Given the description of an element on the screen output the (x, y) to click on. 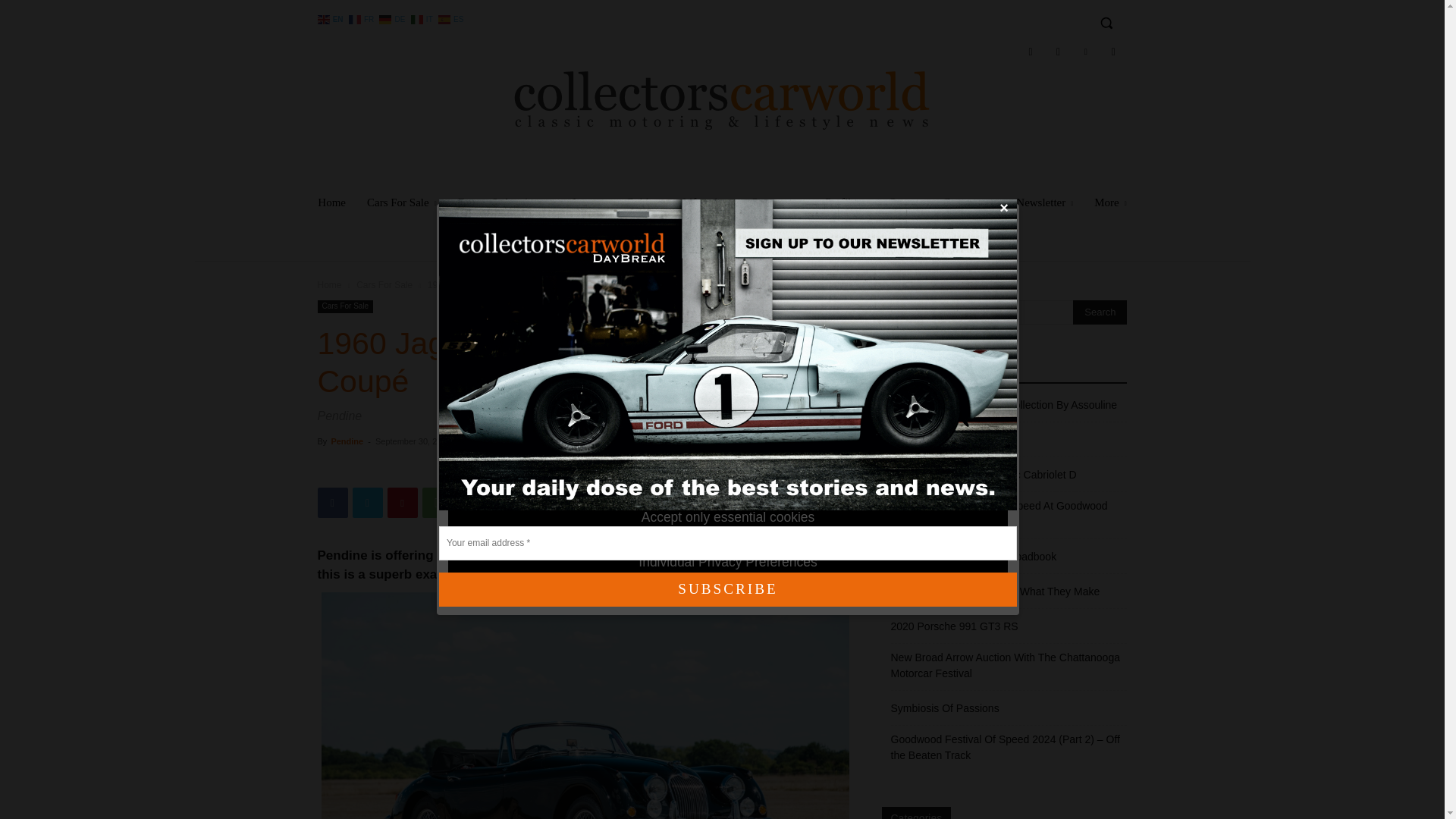
French (363, 18)
ES (451, 18)
English (331, 18)
DE (392, 18)
FR (363, 18)
Pinterest (1085, 51)
Facebook (1029, 51)
EN (331, 18)
IT (422, 18)
German (392, 18)
Spanish (451, 18)
SUBSCRIBE (727, 589)
Italian (422, 18)
Instagram (1057, 51)
Search (1099, 312)
